Given the description of an element on the screen output the (x, y) to click on. 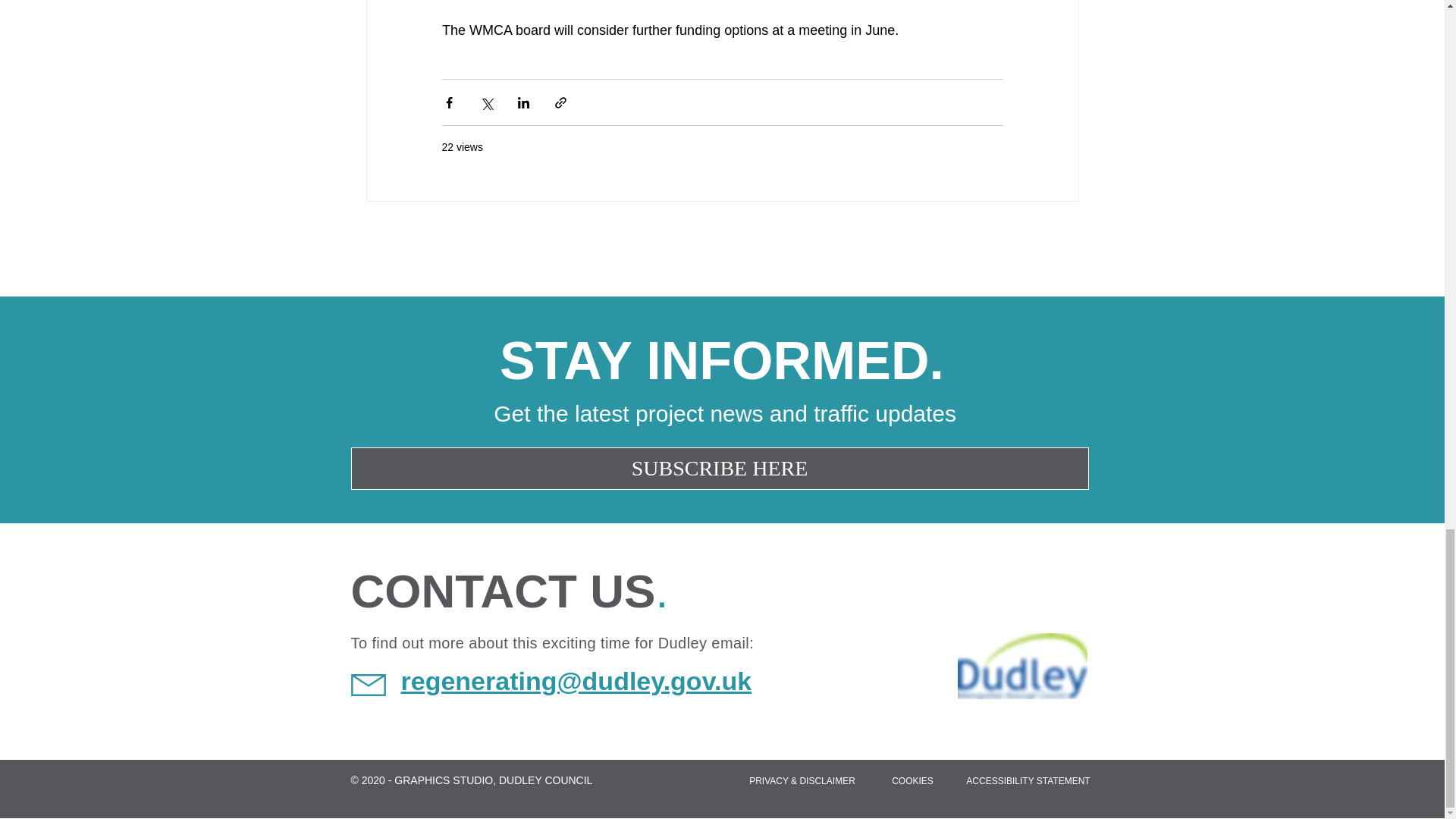
ACCESSIBILITY STATEMENT (1027, 780)
COOKIES (912, 780)
SUBSCRIBE HERE (718, 468)
